Given the description of an element on the screen output the (x, y) to click on. 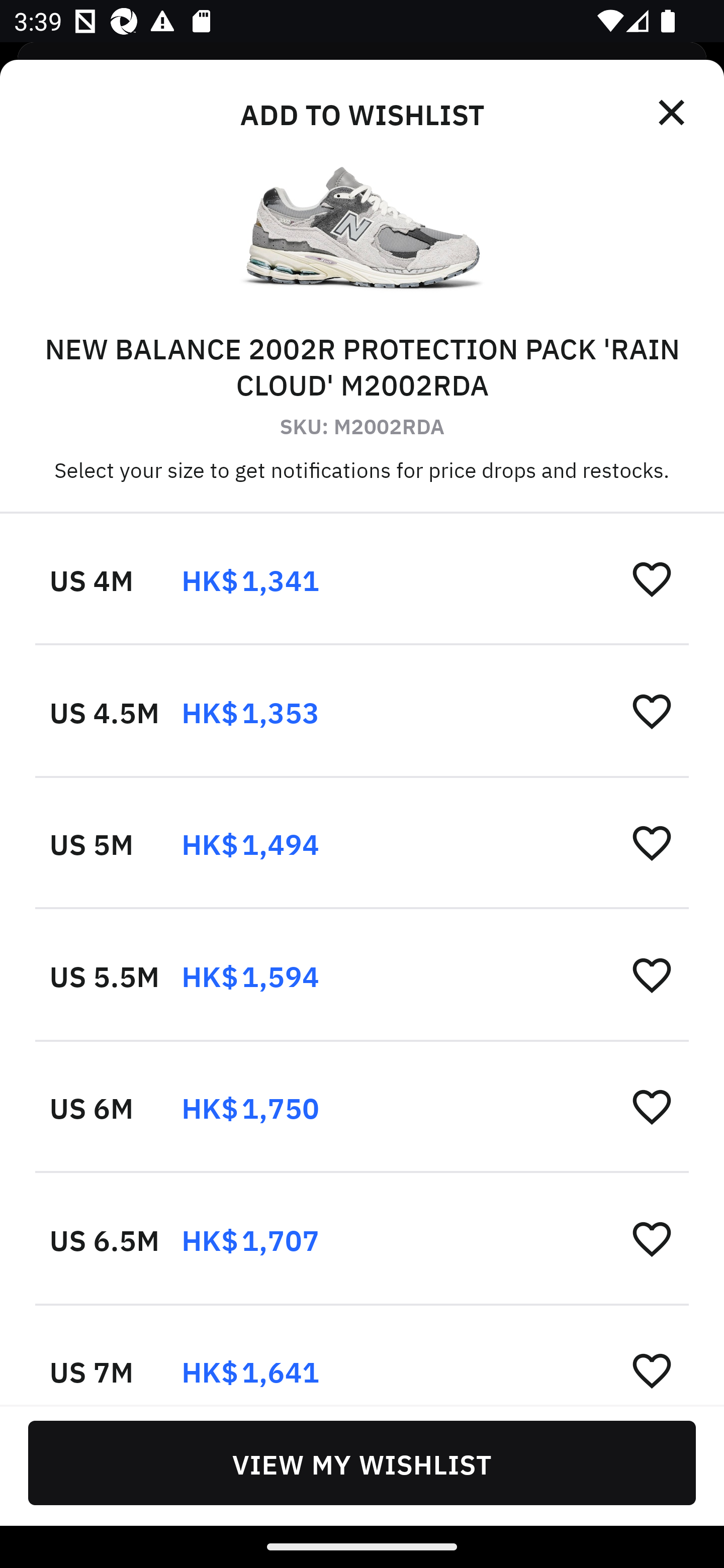
 (672, 112)
󰋕 (651, 578)
󰋕 (651, 710)
󰋕 (651, 842)
󰋕 (651, 974)
󰋕 (651, 1105)
󰋕 (651, 1237)
󰋕 (651, 1369)
VIEW MY WISHLIST (361, 1462)
